Given the description of an element on the screen output the (x, y) to click on. 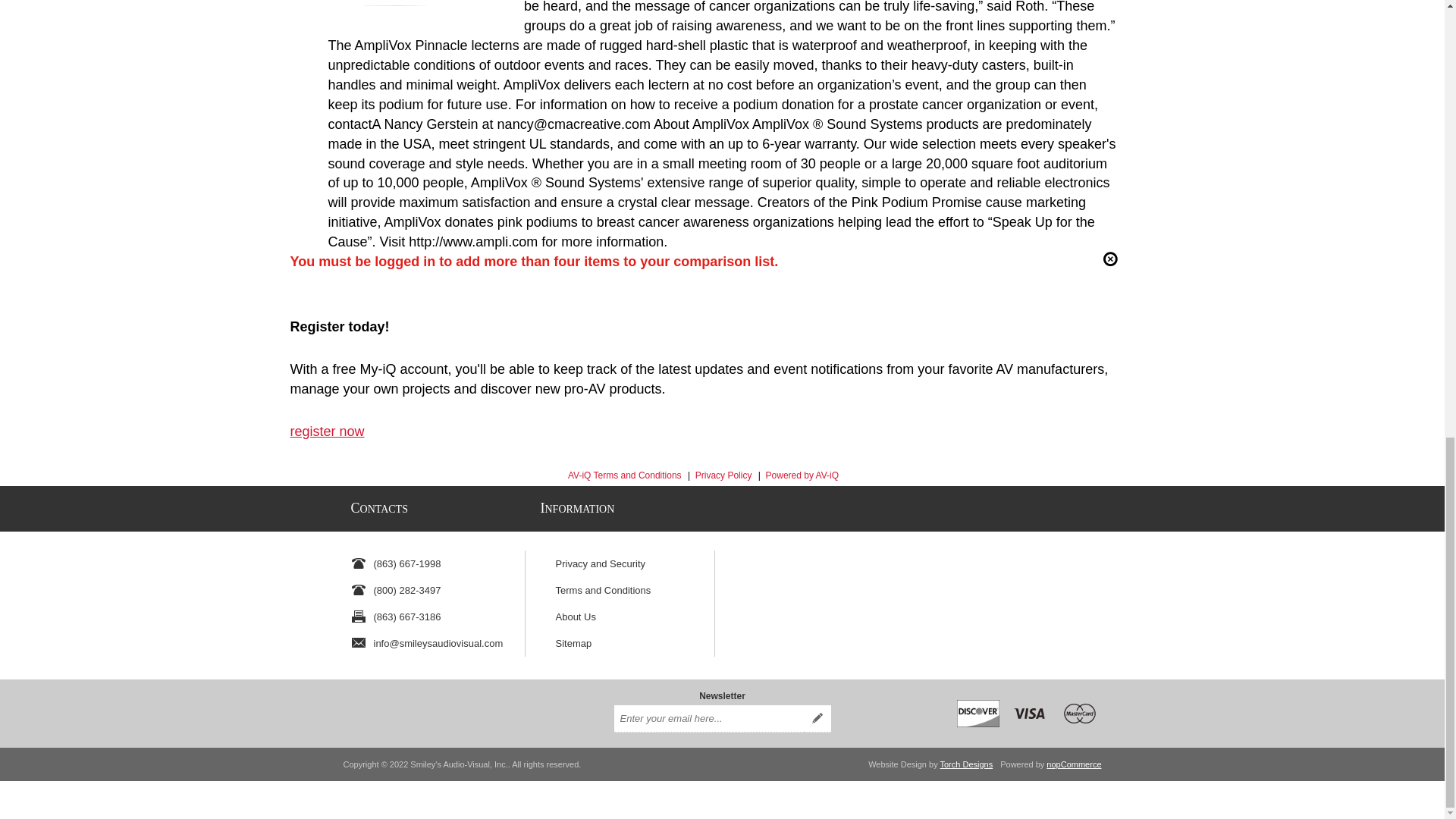
Send (817, 718)
